Given the description of an element on the screen output the (x, y) to click on. 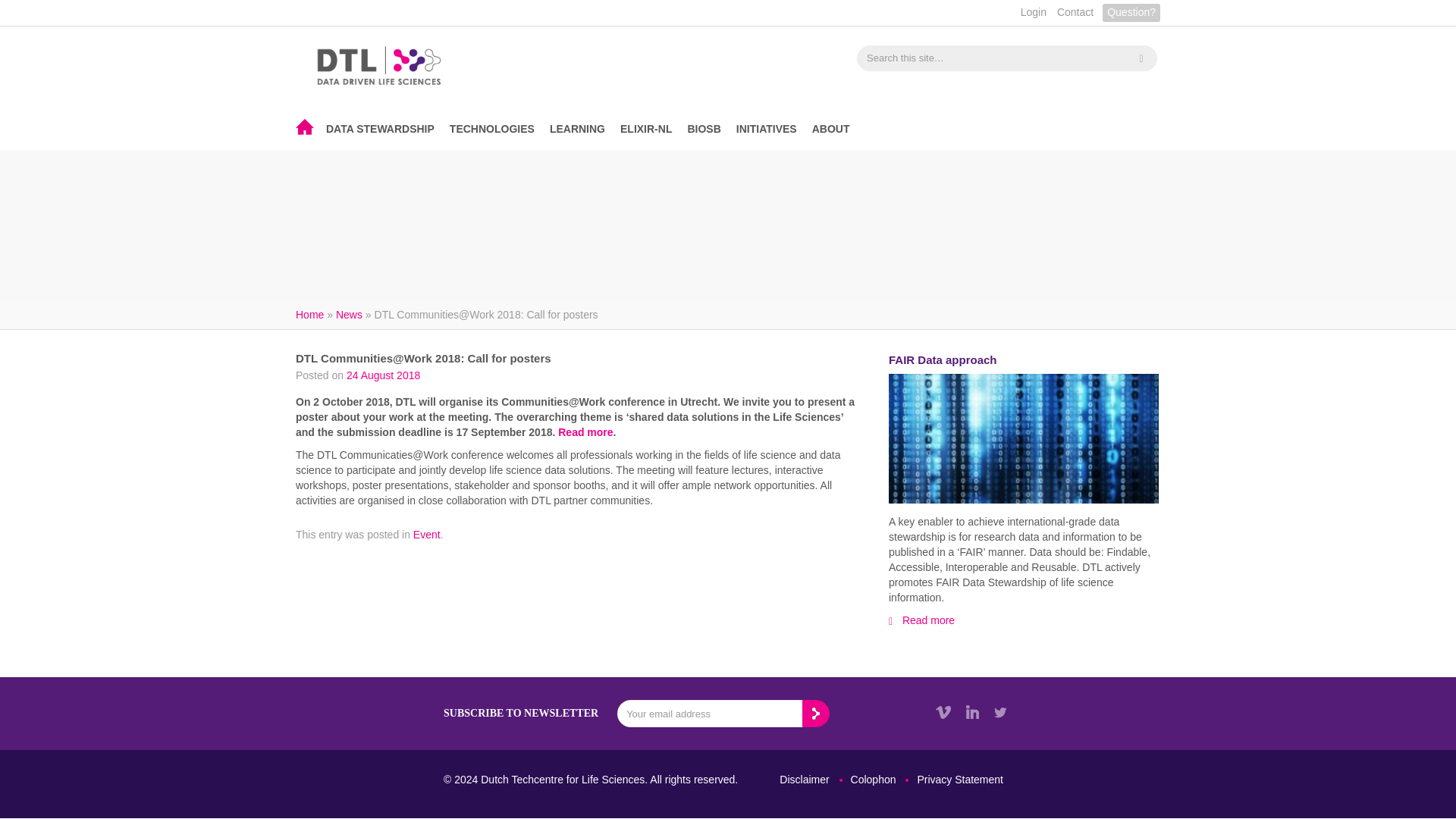
TECHNOLOGIES (491, 129)
11:22 (383, 375)
Login (1033, 13)
HOME (304, 126)
Dutch Techcentre for Life Sciences (379, 65)
Contact (1074, 13)
Question? (1131, 13)
DATA STEWARDSHIP (380, 129)
LEARNING (576, 129)
